Given the description of an element on the screen output the (x, y) to click on. 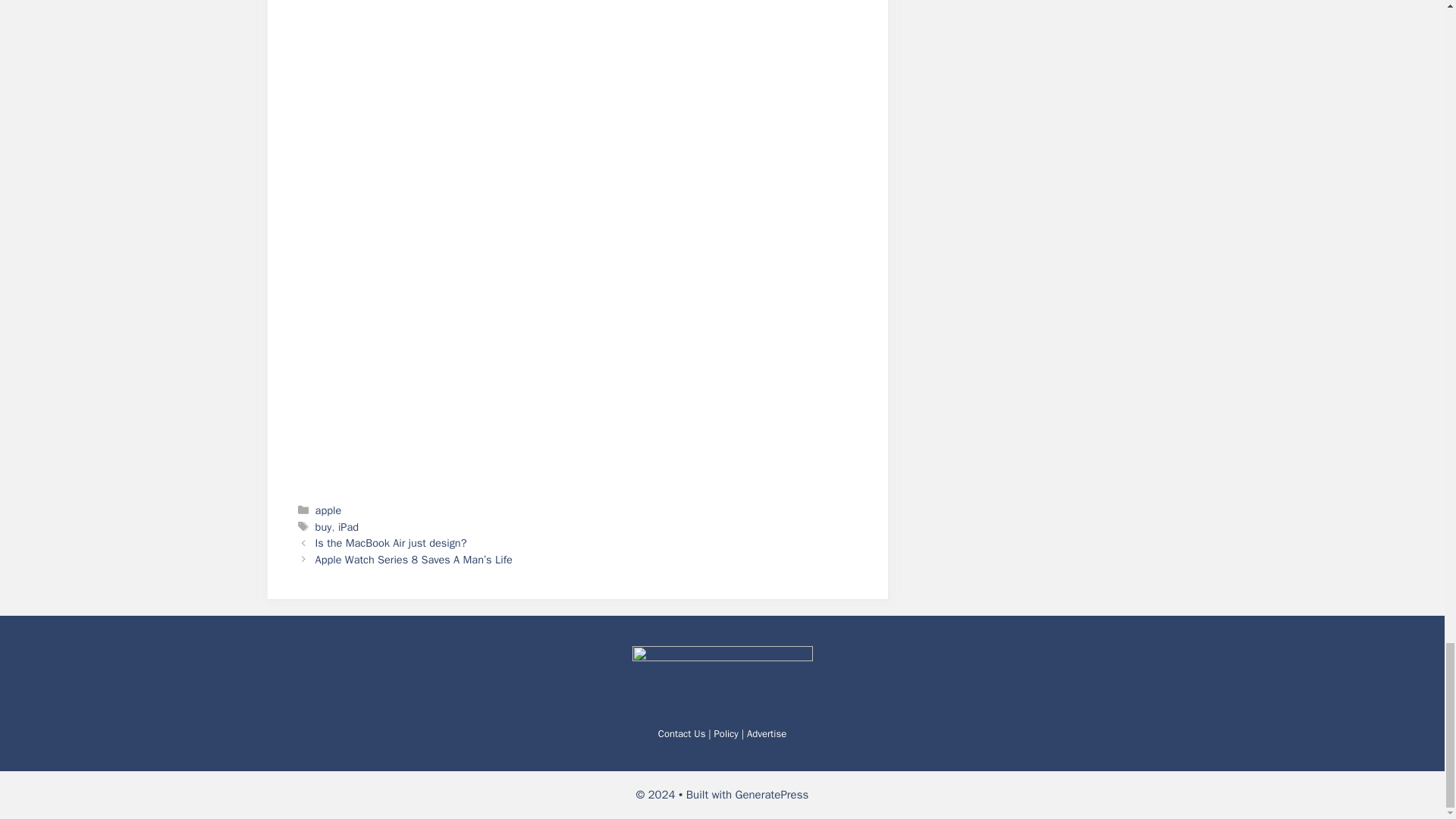
Advertise (766, 733)
apple (328, 509)
Is the MacBook Air just design? (391, 542)
Contact Us (682, 733)
buy (323, 526)
Policy (726, 733)
GeneratePress (772, 794)
iPad (347, 526)
